Given the description of an element on the screen output the (x, y) to click on. 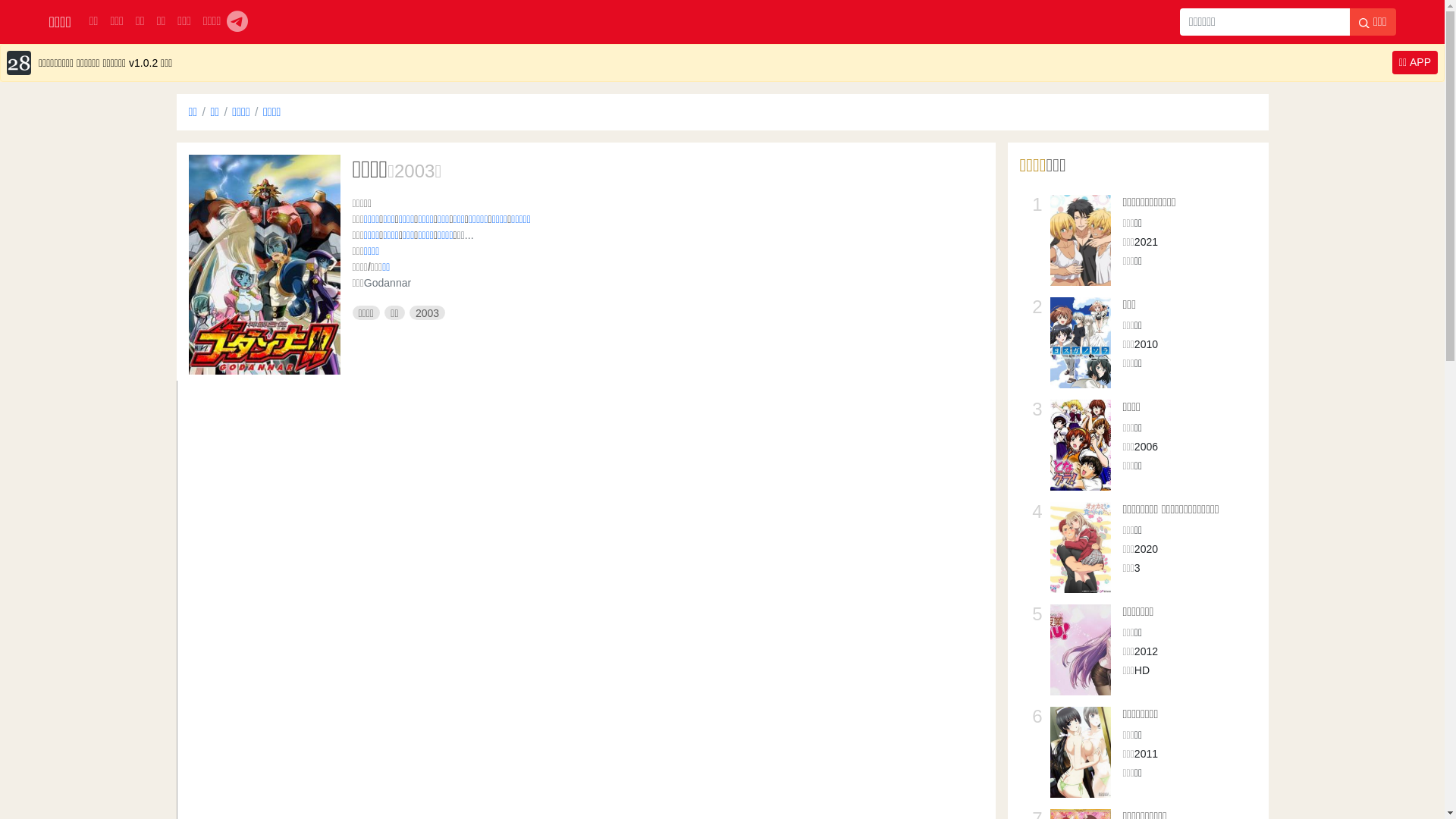
2003 Element type: text (427, 312)
2003 Element type: text (414, 170)
